Given the description of an element on the screen output the (x, y) to click on. 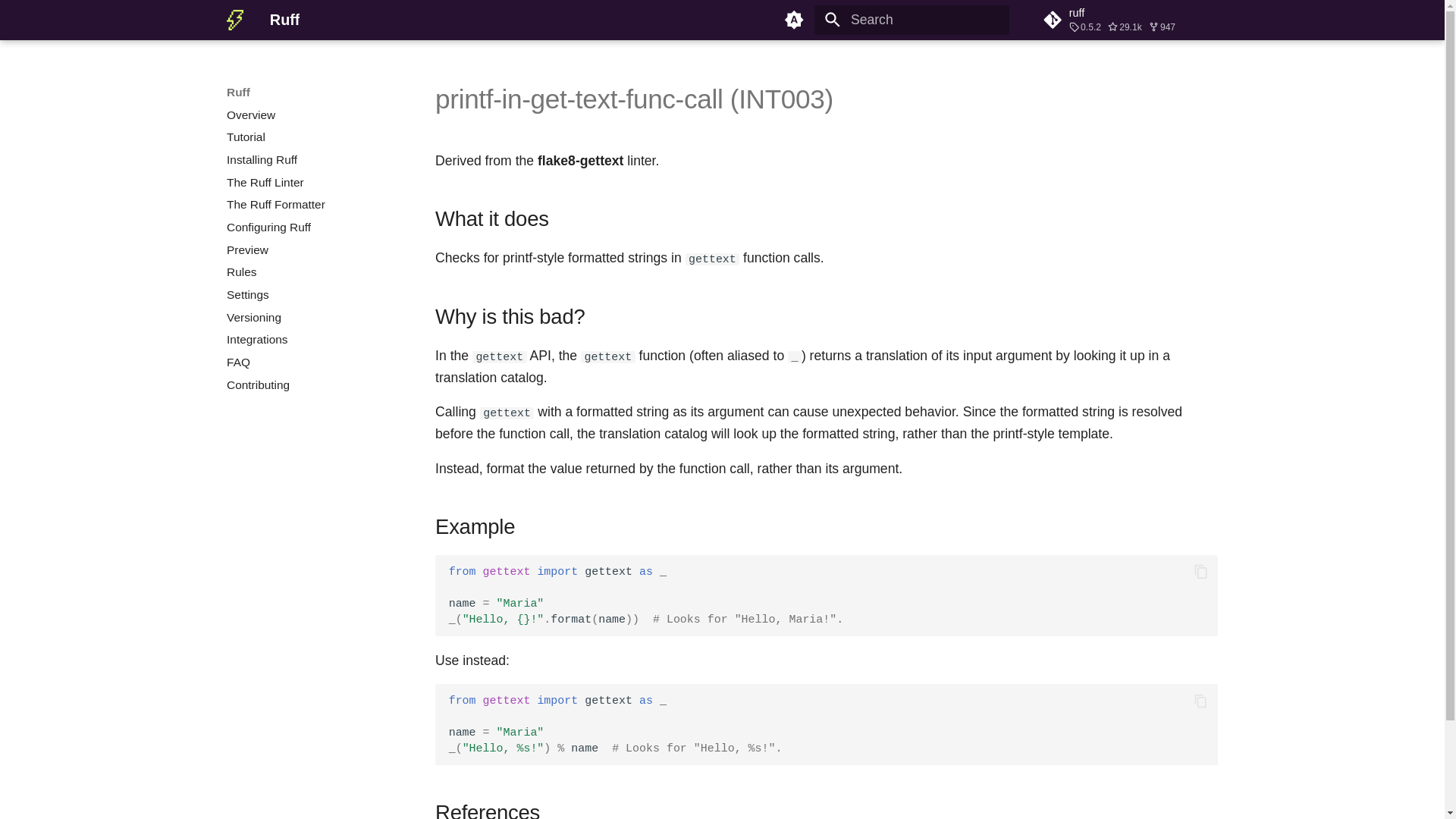
Settings (312, 294)
Integrations (312, 339)
Rules (312, 272)
Installing Ruff (312, 159)
Switch to light mode (793, 19)
Configuring Ruff (312, 227)
ruff (1129, 20)
FAQ (312, 362)
Go to repository (1129, 20)
Preview (312, 249)
Tutorial (312, 136)
Copy to clipboard (1201, 700)
Copy to clipboard (1201, 571)
The Ruff Linter (312, 182)
Contributing (312, 385)
